Given the description of an element on the screen output the (x, y) to click on. 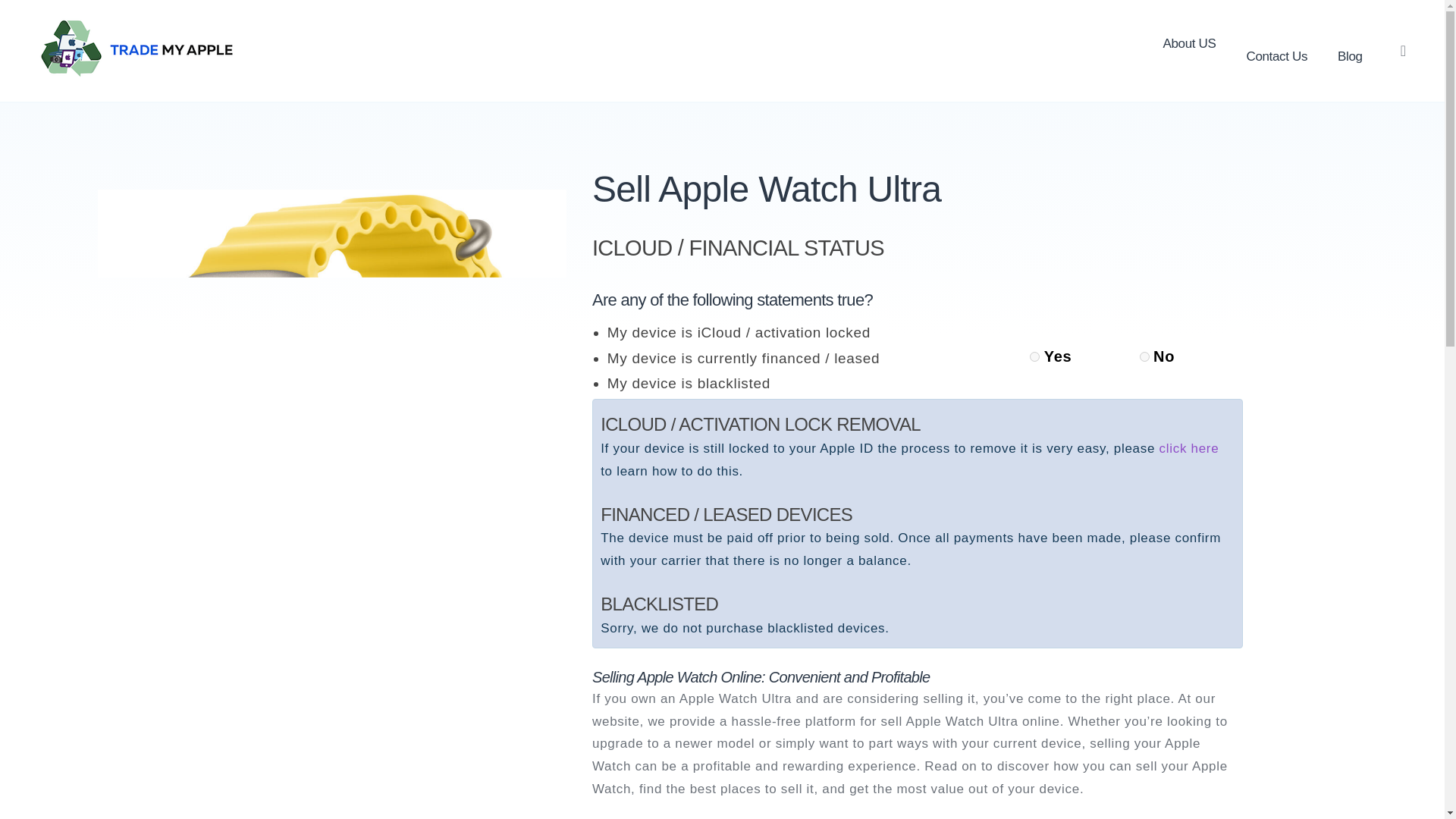
yes (1034, 356)
About US (1189, 43)
Blog (1349, 56)
click here (1189, 448)
Login (824, 505)
Contact Us (1276, 56)
no (1145, 356)
TrademyApple (106, 49)
